Given the description of an element on the screen output the (x, y) to click on. 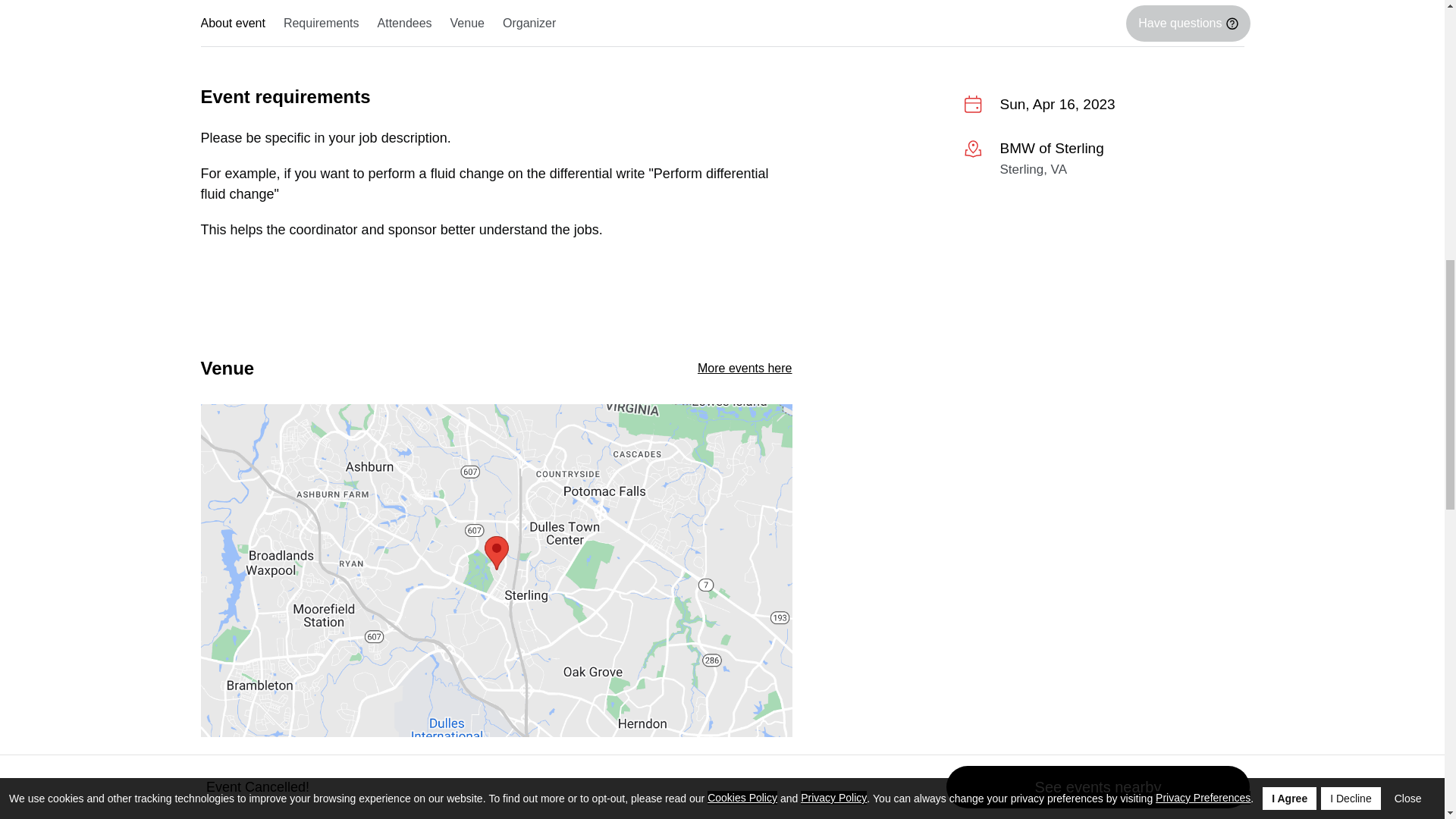
More events here (744, 367)
